Given the description of an element on the screen output the (x, y) to click on. 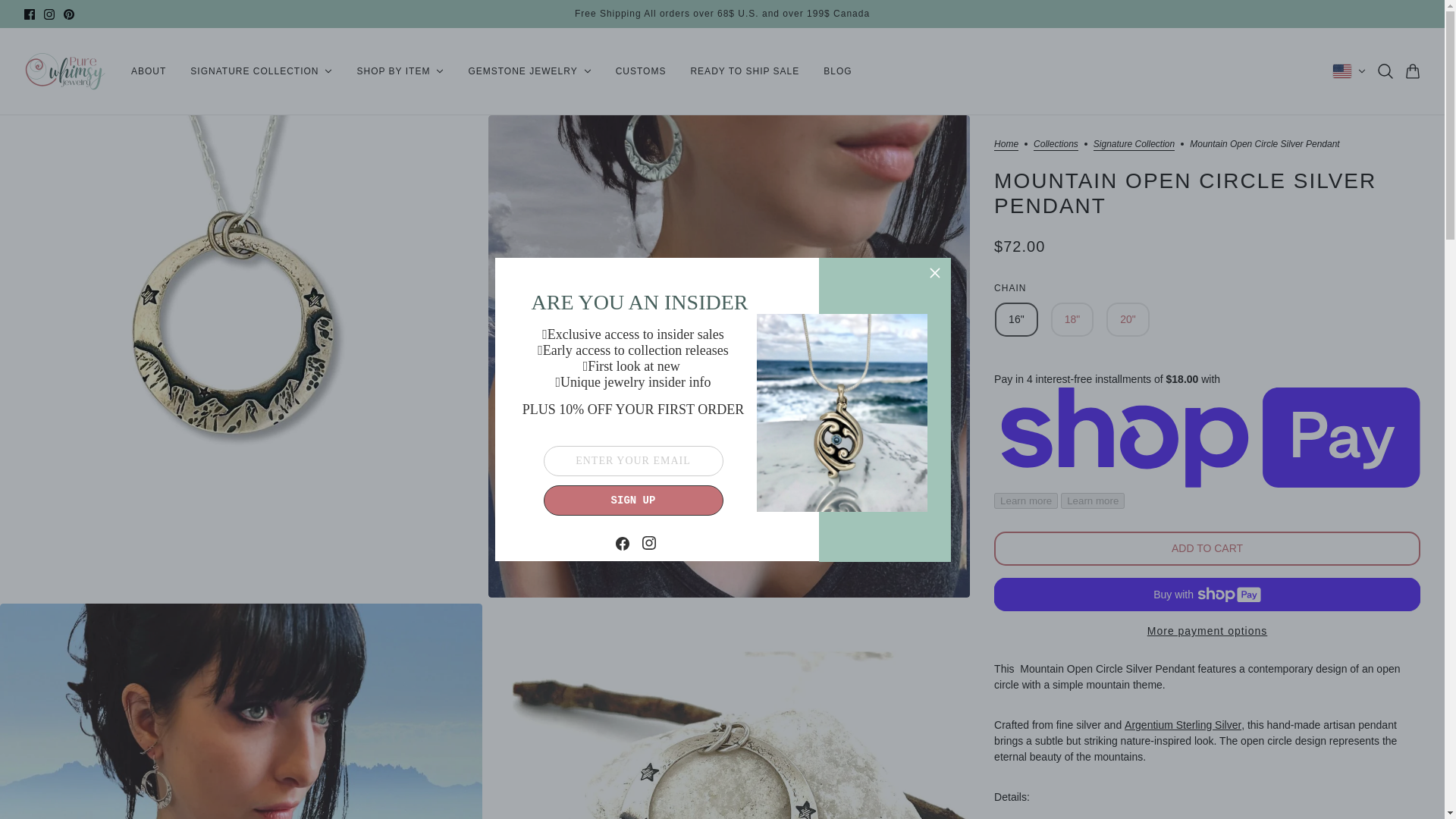
GEMSTONE JEWELRY (528, 70)
SHOP BY ITEM (399, 70)
SIGNATURE COLLECTION (260, 70)
what is argentium sterling silver blog (1182, 725)
Pure Whimsy Jewelry (65, 71)
READY TO SHIP SALE (744, 70)
